Given the description of an element on the screen output the (x, y) to click on. 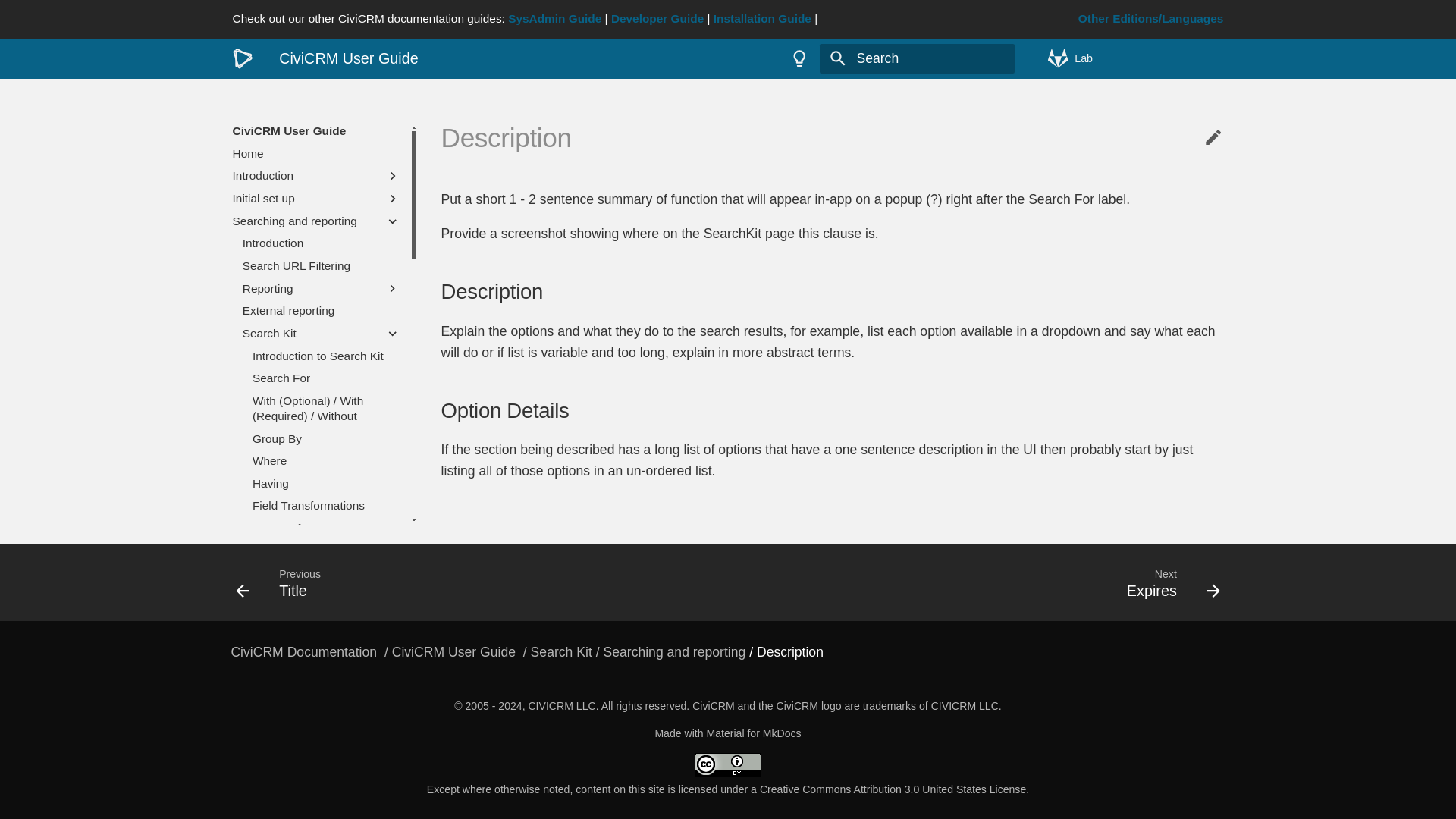
Developer Guide (657, 18)
Where (325, 460)
Search URL Filtering (321, 265)
Group By (325, 438)
External reporting (321, 310)
Developer Guide (657, 18)
Go to repository (1135, 58)
CiviCRM User Guide (455, 652)
Installation Guide (761, 18)
Installation Guide (761, 18)
CiviCRM User Guide (242, 58)
Search For (325, 378)
Introduction to Search Kit (325, 355)
SysAdmin Guide (554, 18)
Introduction (321, 242)
